Given the description of an element on the screen output the (x, y) to click on. 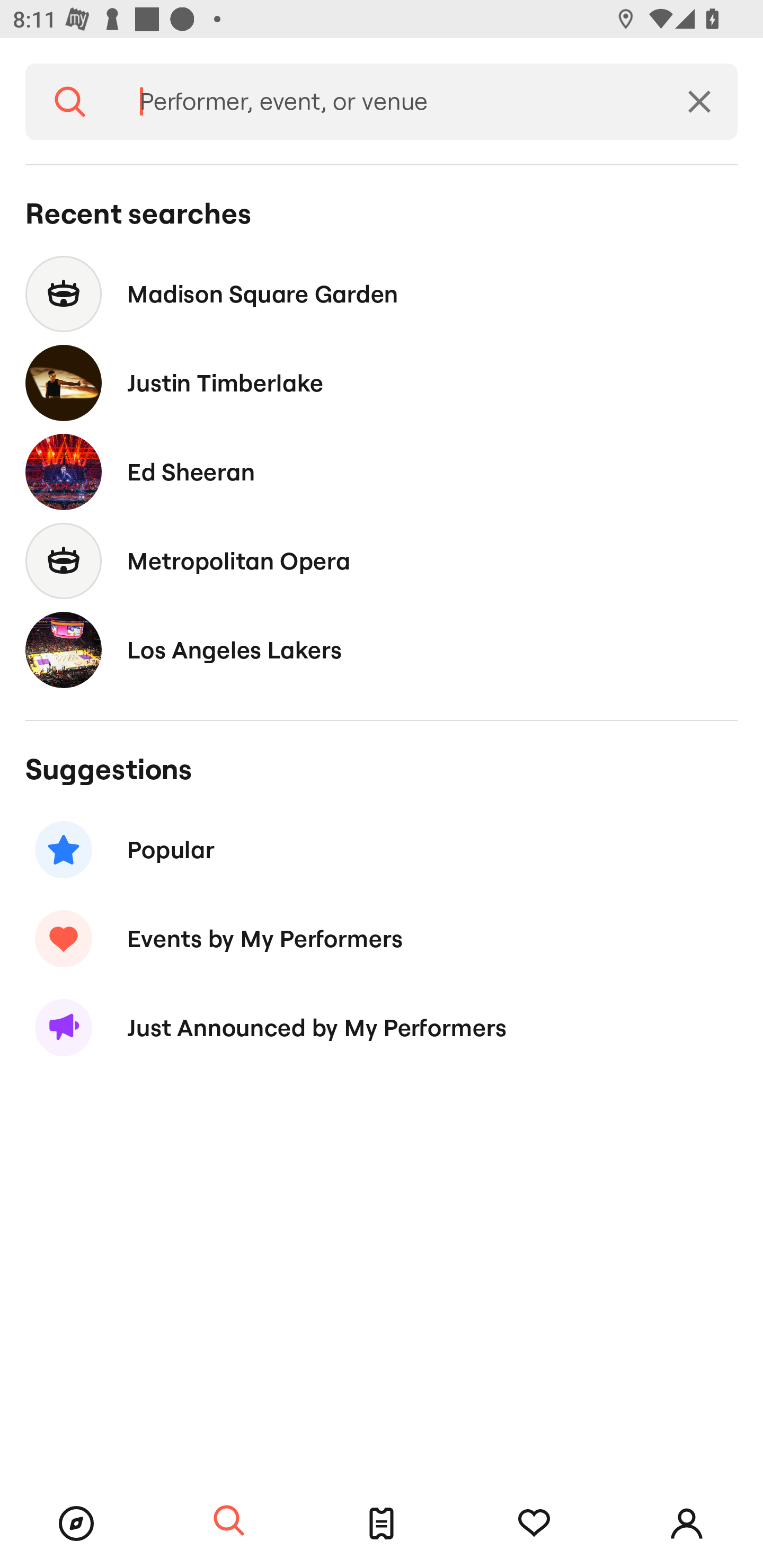
Search (69, 101)
Performer, event, or venue (387, 101)
Clear (699, 101)
Madison Square Garden (381, 293)
Justin Timberlake (381, 383)
Ed Sheeran (381, 471)
Metropolitan Opera (381, 560)
Los Angeles Lakers (381, 649)
Popular (381, 849)
Events by My Performers (381, 938)
Just Announced by My Performers (381, 1027)
Browse (76, 1523)
Search (228, 1521)
Tickets (381, 1523)
Tracking (533, 1523)
Account (686, 1523)
